Given the description of an element on the screen output the (x, y) to click on. 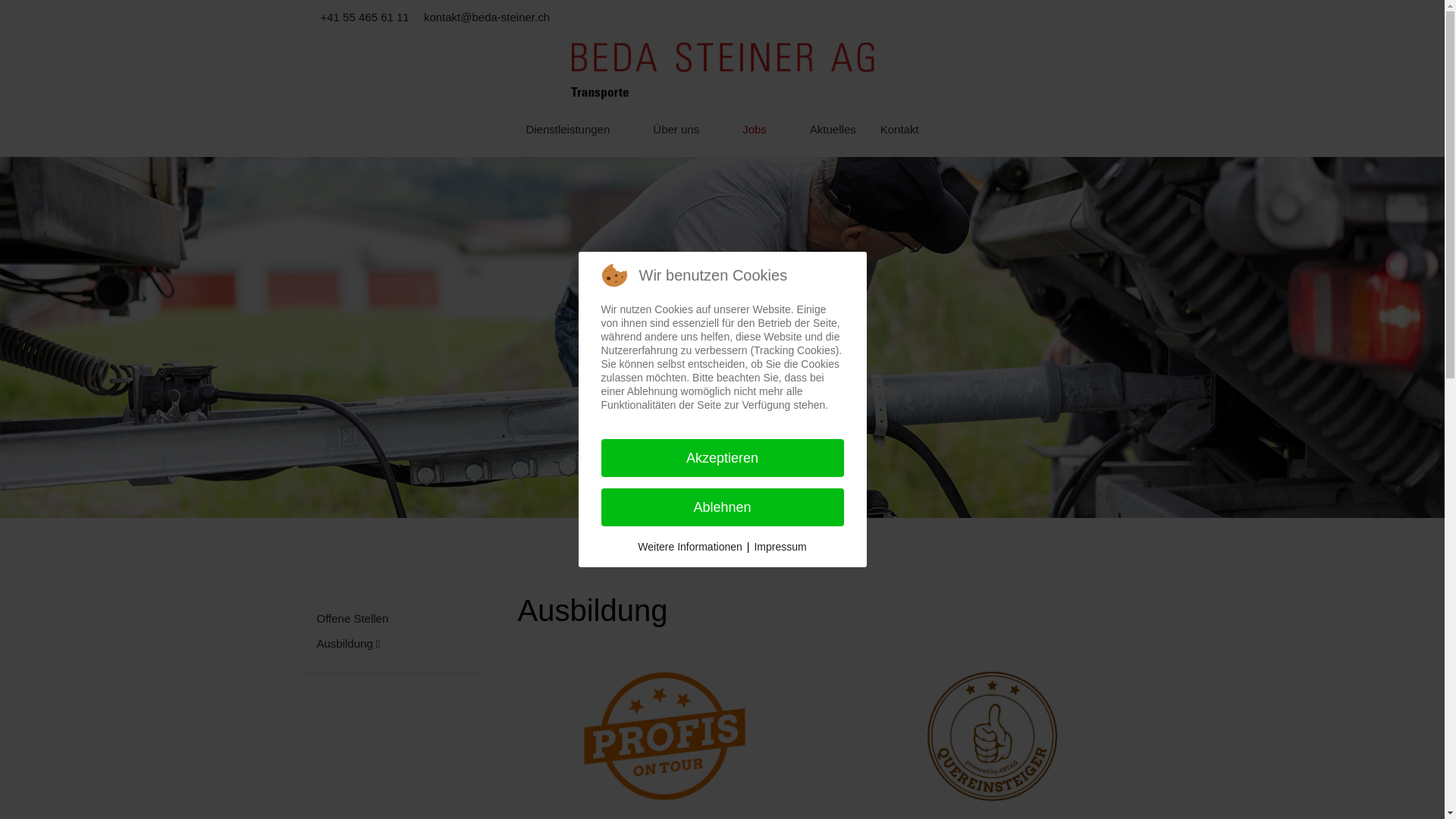
Kontakt Element type: text (899, 130)
Akzeptieren Element type: text (721, 457)
Weitere Informationen Element type: text (689, 546)
Impressum Element type: text (779, 546)
Offene Stellen Element type: text (352, 617)
Dienstleistungen Element type: text (576, 130)
+41 55 465 61 11 Element type: text (364, 16)
Aktuelles Element type: text (832, 130)
Ausbildung Element type: text (348, 643)
Jobs Element type: text (763, 130)
Ablehnen Element type: text (721, 507)
kontakt@beda-steiner.ch Element type: text (486, 16)
